Given the description of an element on the screen output the (x, y) to click on. 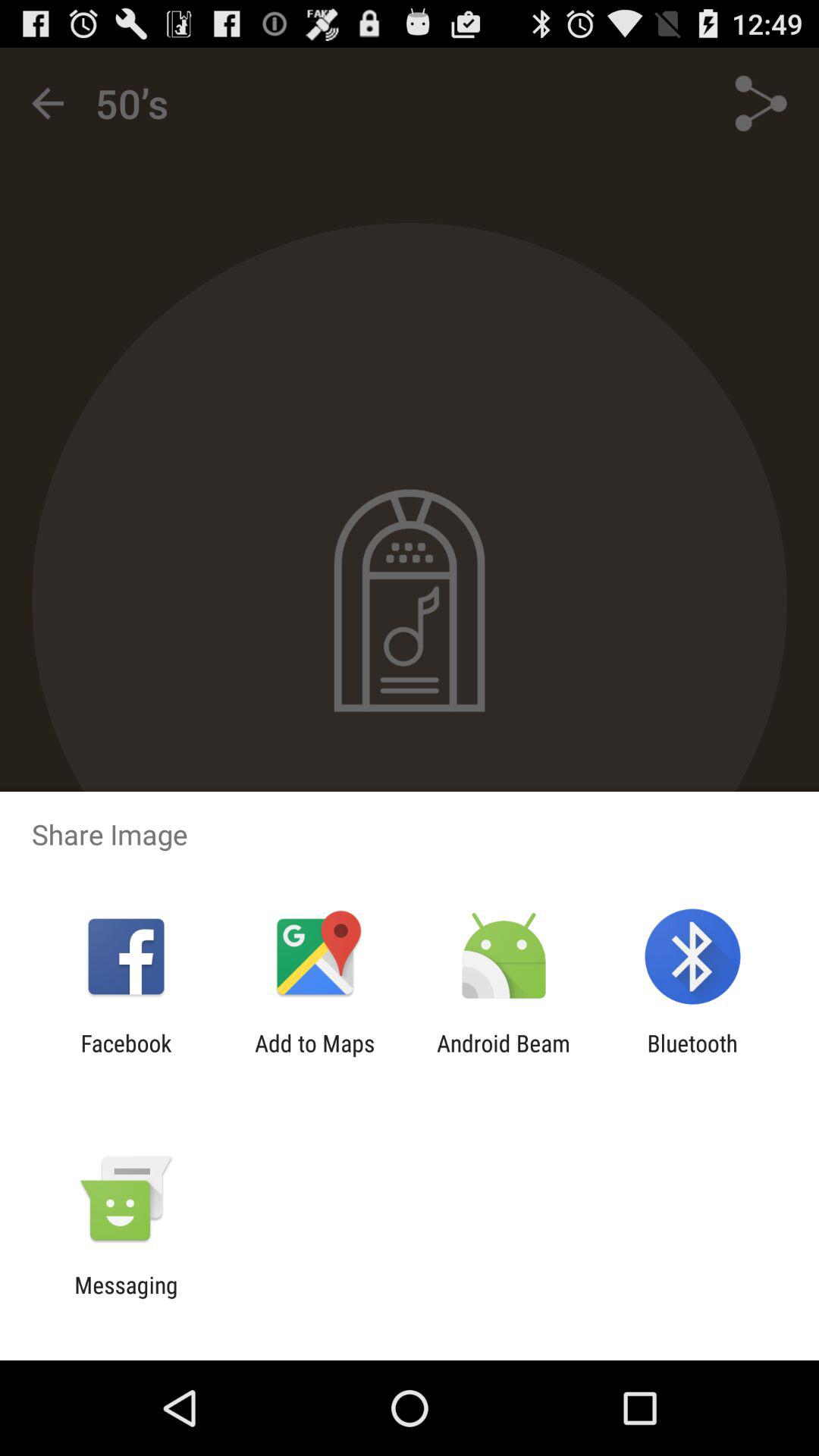
launch messaging app (126, 1298)
